Given the description of an element on the screen output the (x, y) to click on. 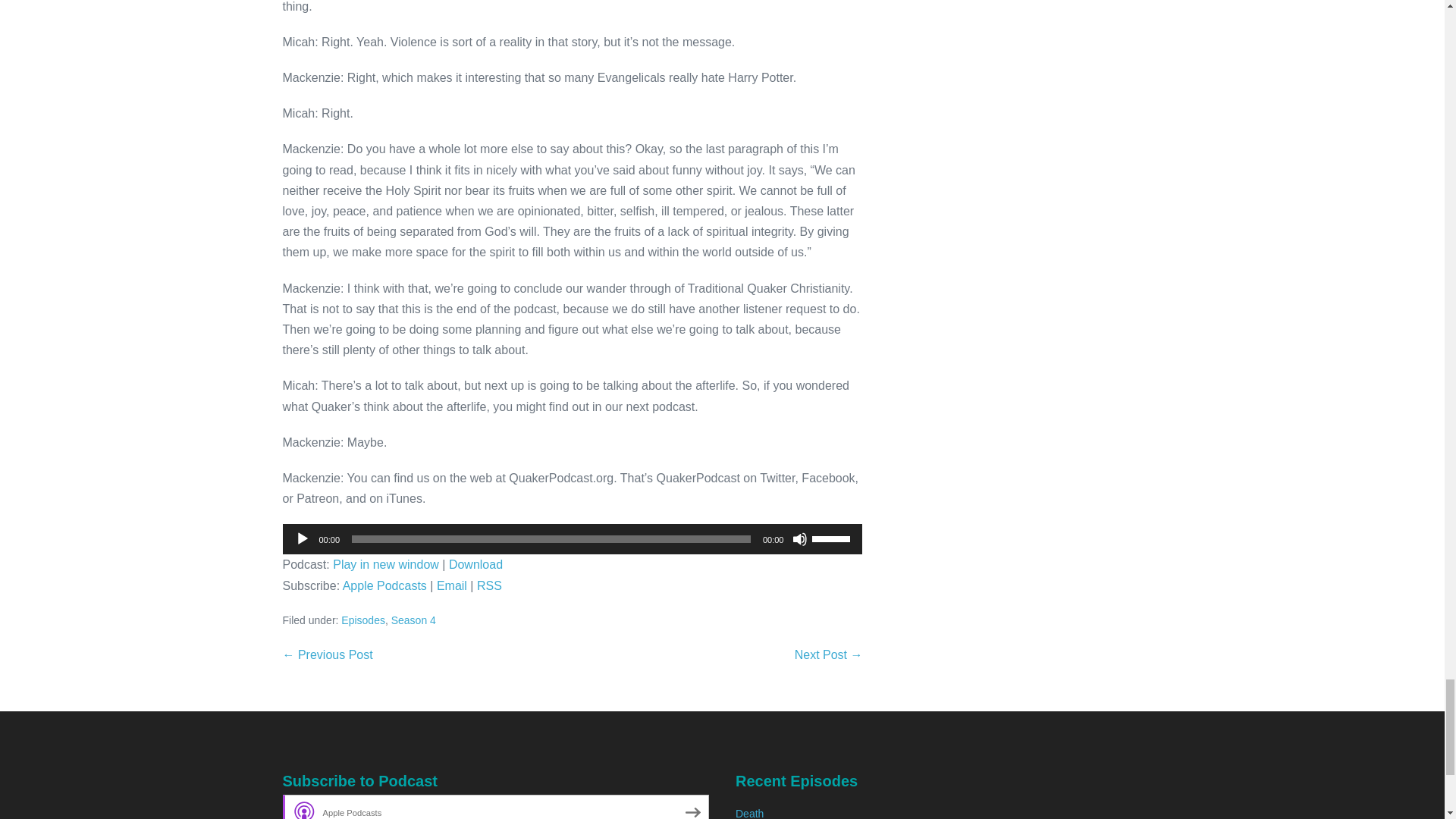
Apple Podcasts (384, 585)
Subscribe by Email (451, 585)
Download (475, 563)
Email (451, 585)
Subscribe via RSS (489, 585)
Season 4 (413, 620)
Episodes (362, 620)
Play in new window (386, 563)
RSS (489, 585)
Play (301, 539)
Mute (800, 539)
Subscribe on Apple Podcasts (384, 585)
Download (475, 563)
Play in new window (386, 563)
Subscribe on Apple Podcasts (495, 806)
